Given the description of an element on the screen output the (x, y) to click on. 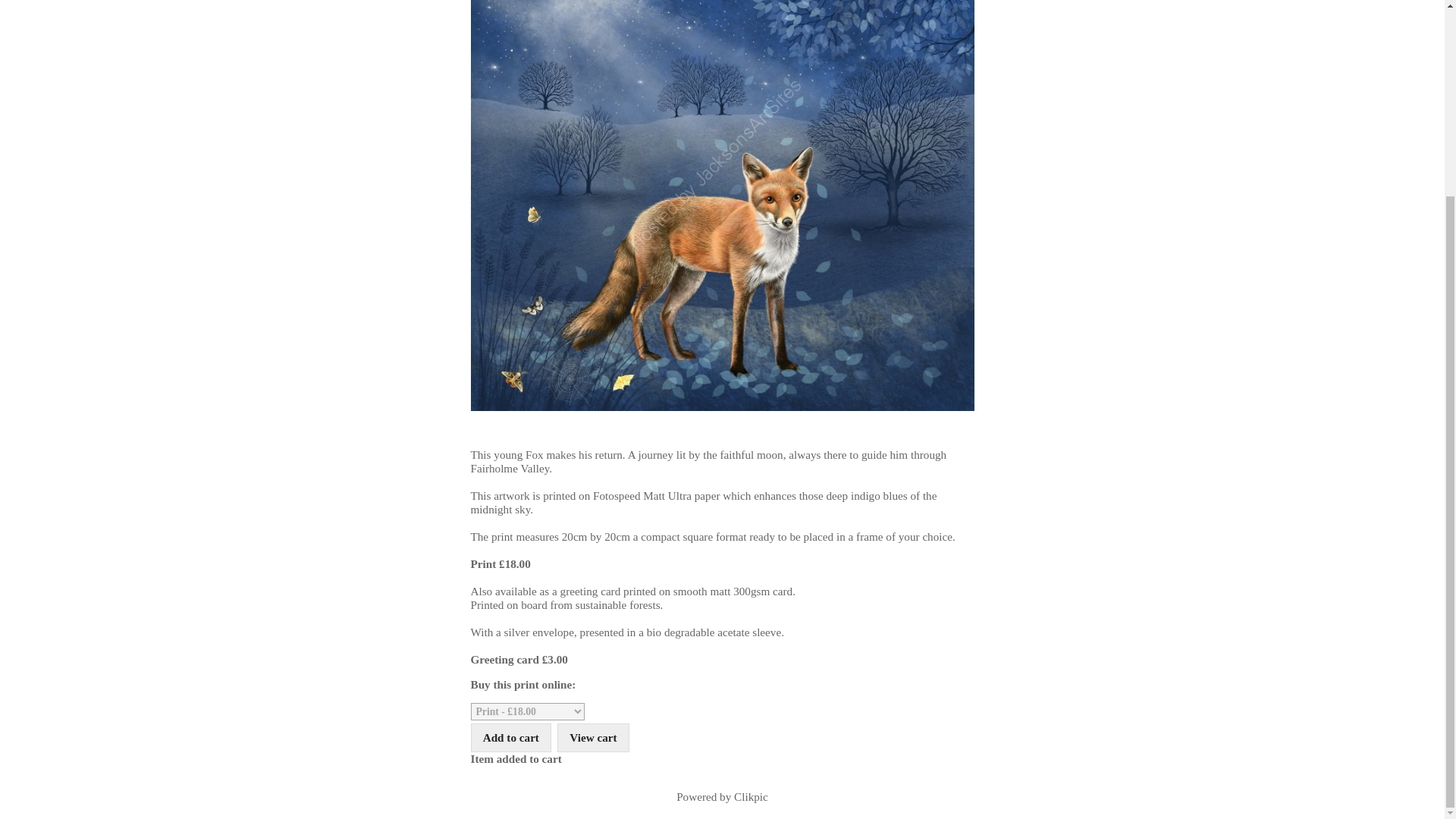
Clikpic (750, 796)
Add to cart (510, 737)
View cart (592, 737)
